Given the description of an element on the screen output the (x, y) to click on. 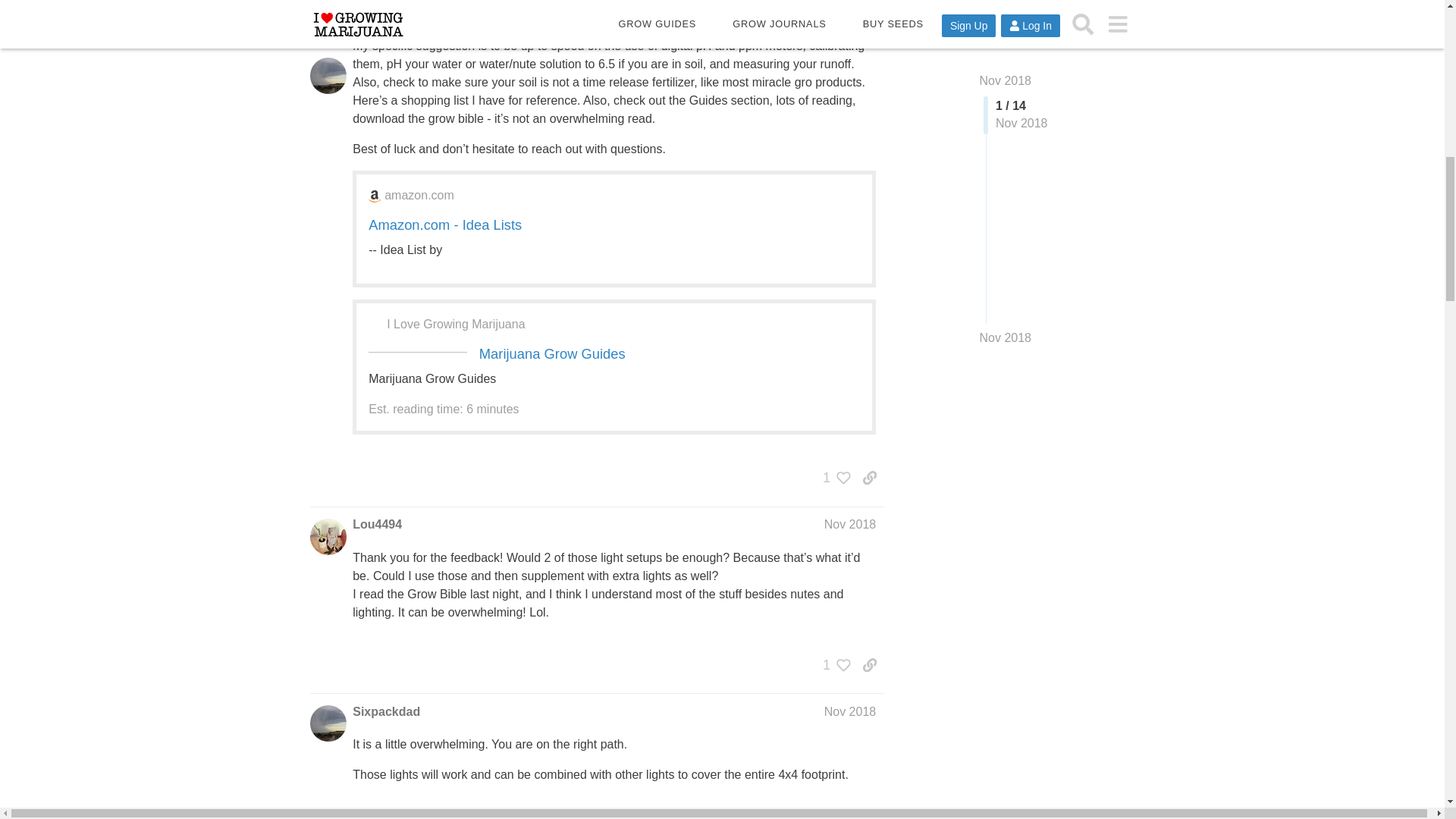
Marijuana Grow Guides (552, 353)
I Love Growing Marijuana (455, 324)
Amazon.com - Idea Lists (444, 224)
amazon.com (419, 195)
